Given the description of an element on the screen output the (x, y) to click on. 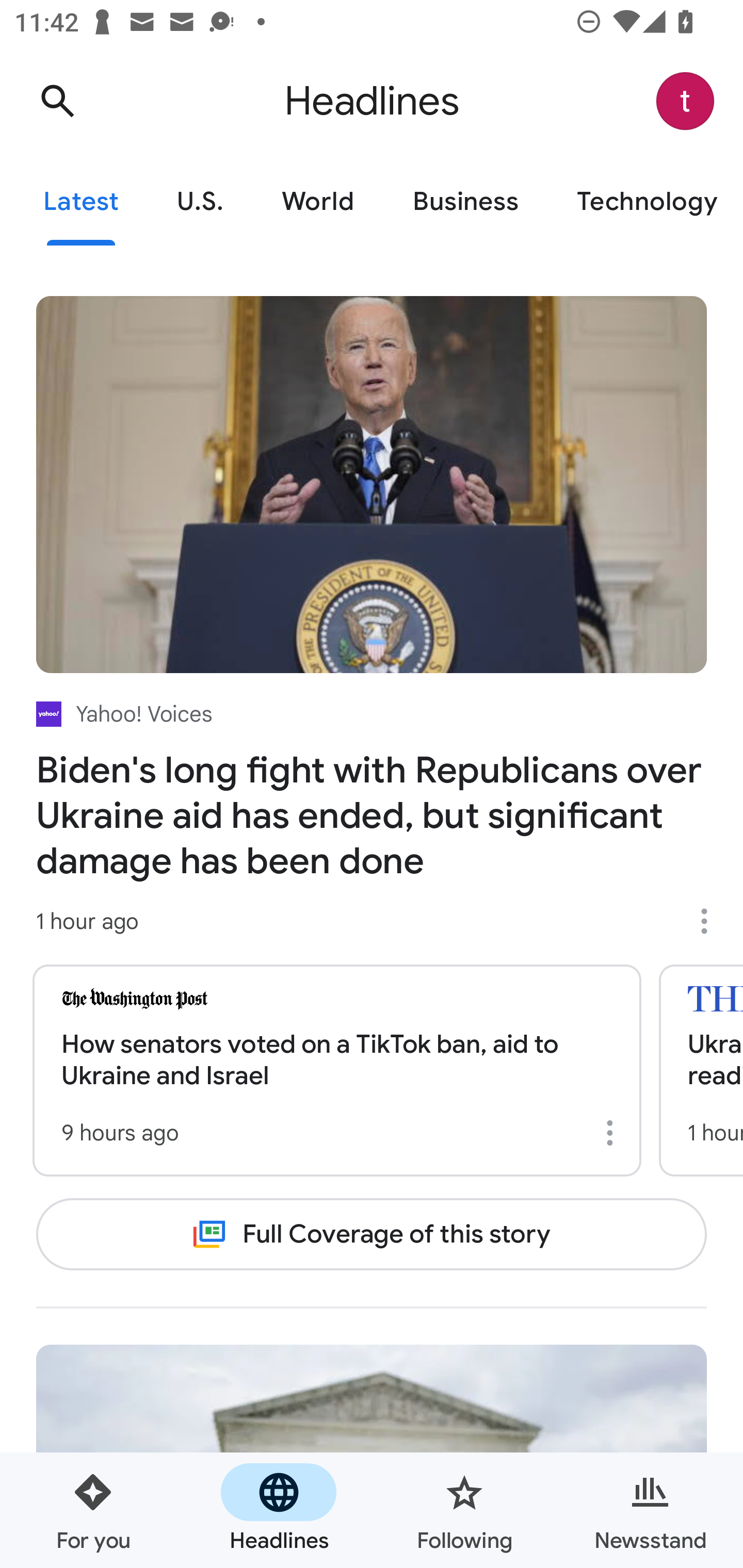
Search (57, 100)
U.S. (199, 202)
World (317, 202)
Business (465, 202)
Technology (645, 202)
More options (711, 921)
More options (613, 1132)
Full Coverage of this story (371, 1233)
For you (92, 1509)
Headlines (278, 1509)
Following (464, 1509)
Newsstand (650, 1509)
